Given the description of an element on the screen output the (x, y) to click on. 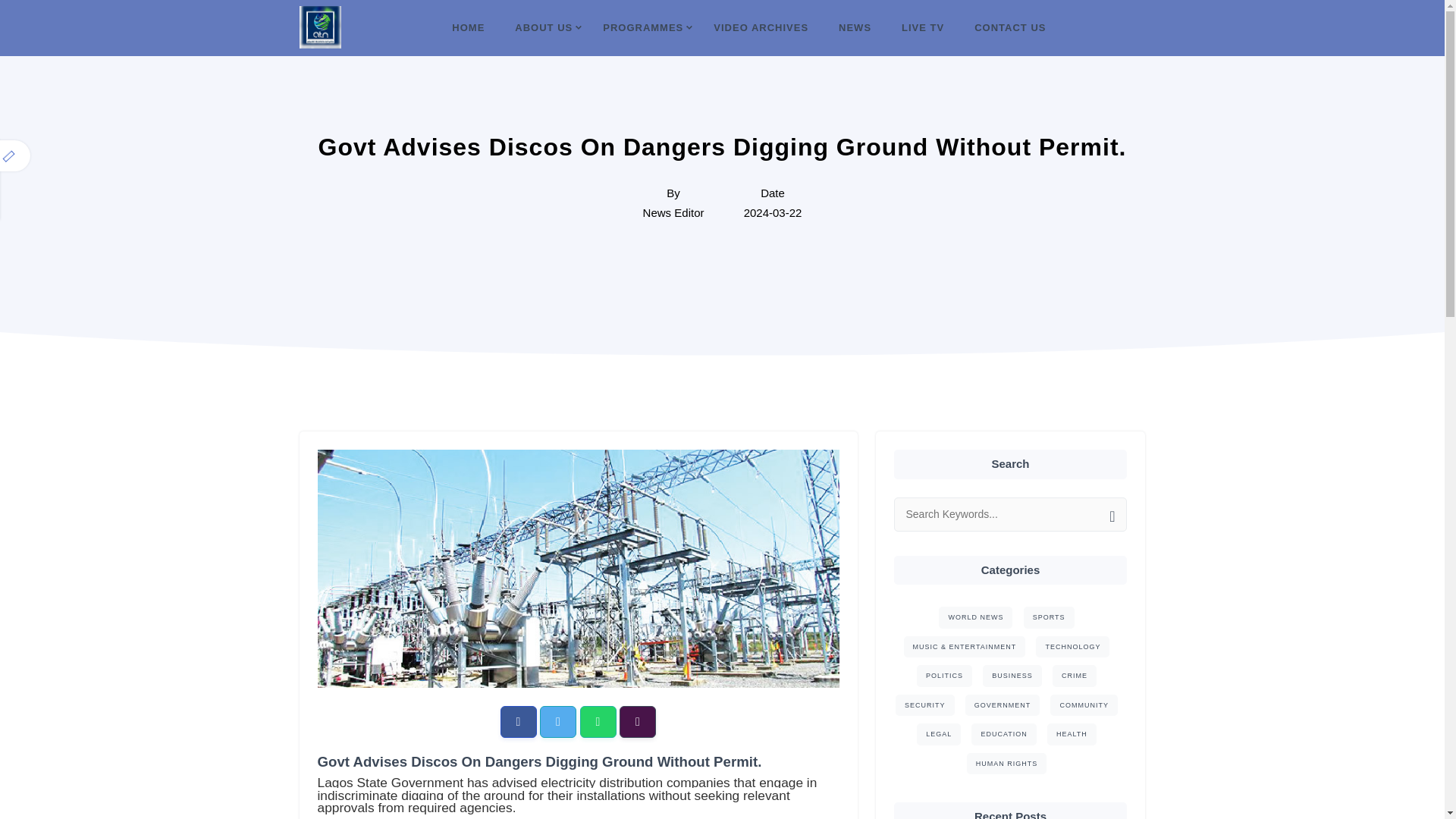
LEGAL (938, 734)
WORLD NEWS (975, 617)
HUMAN RIGHTS (1006, 762)
EDUCATION (1003, 734)
SECURITY (925, 705)
News Editor (673, 212)
CRIME (1074, 676)
NEWS (855, 28)
POLITICS (944, 676)
HEALTH (1071, 734)
TECHNOLOGY (1072, 646)
CONTACT US (1009, 28)
Share by Email (638, 721)
VIDEO ARCHIVES (760, 28)
LIVE TV (922, 28)
